Given the description of an element on the screen output the (x, y) to click on. 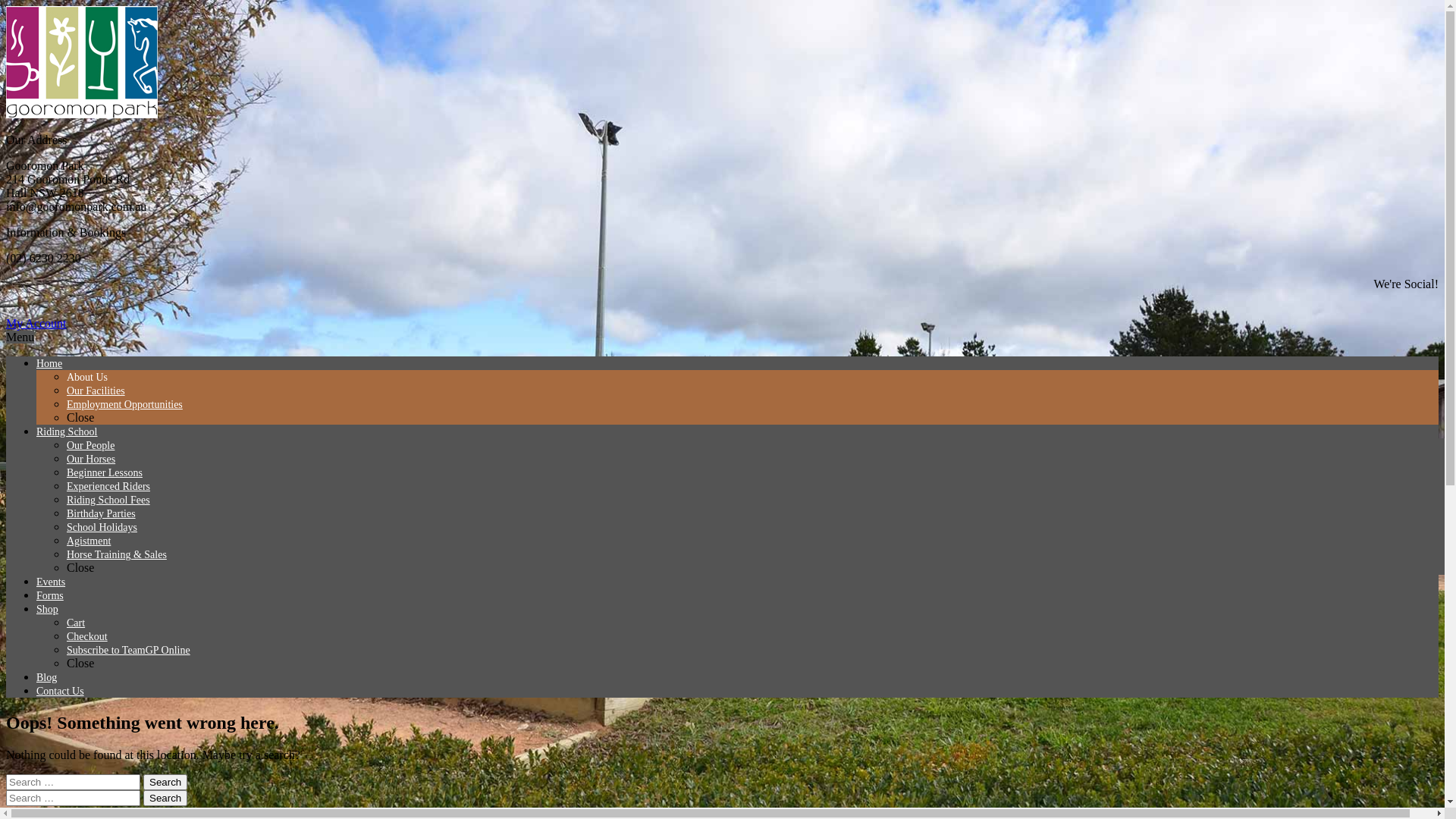
Subscribe to TeamGP Online Element type: text (128, 649)
Riding School Fees Element type: text (108, 499)
Employment Opportunities Element type: text (124, 404)
Our Horses Element type: text (90, 458)
Blog Element type: text (46, 677)
Contact Us Element type: text (60, 690)
My Account Element type: text (36, 322)
School Holidays Element type: text (101, 527)
Our Facilities Element type: text (95, 390)
Home Element type: text (49, 363)
Search for: Element type: hover (73, 782)
Beginner Lessons Element type: text (104, 472)
Forms Element type: text (49, 595)
Events Element type: text (50, 581)
Menu Element type: text (20, 336)
Horse Training & Sales Element type: text (116, 554)
Experienced Riders Element type: text (108, 486)
Search for: Element type: hover (73, 798)
Shop Element type: text (47, 609)
Birthday Parties Element type: text (100, 513)
Checkout Element type: text (86, 636)
Cart Element type: text (75, 622)
Riding School Element type: text (66, 431)
Our People Element type: text (90, 445)
Search Element type: text (165, 798)
Agistment Element type: text (88, 540)
Search Element type: text (165, 782)
